Given the description of an element on the screen output the (x, y) to click on. 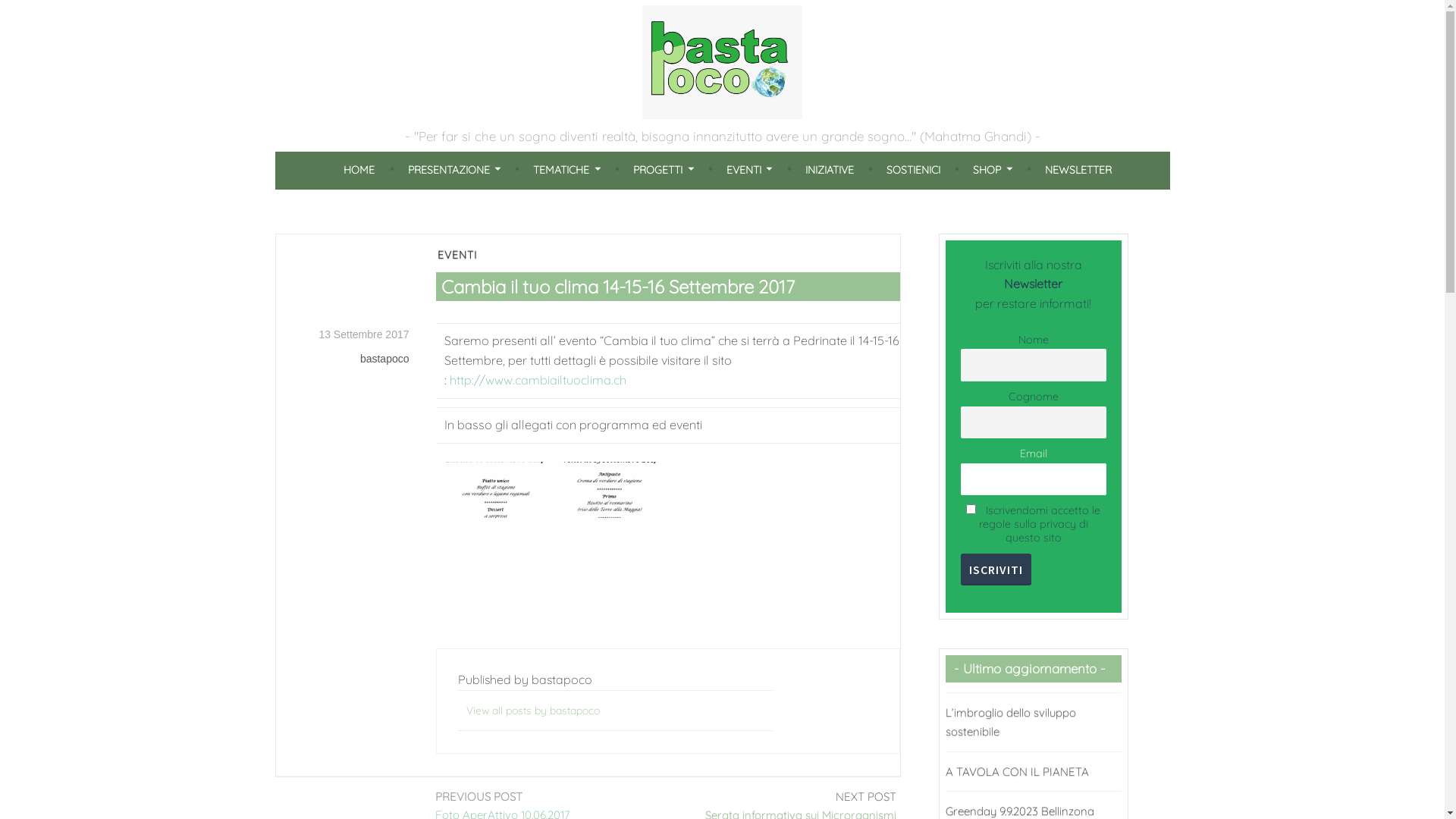
Iscriviti Element type: text (995, 569)
EVENTI Element type: text (456, 254)
HOME Element type: text (358, 169)
SOSTIENICI Element type: text (913, 169)
INIZIATIVE Element type: text (829, 169)
Cerca Element type: text (29, 15)
Associazione Basta Poco Element type: text (449, 143)
http://www.cambiailtuoclima.ch Element type: text (536, 379)
Greenday 9.9.2023 Bellinzona Element type: text (1018, 810)
A TAVOLA CON IL PIANETA Element type: text (1016, 771)
PROGETTI Element type: text (663, 169)
SHOP Element type: text (991, 169)
NEWSLETTER Element type: text (1077, 169)
13 Settembre 2017 Element type: text (363, 335)
PRESENTAZIONE Element type: text (453, 169)
EVENTI Element type: text (748, 169)
View all posts by bastapoco Element type: text (532, 710)
TEMATICHE Element type: text (566, 169)
IMG 20170902 001327 Element type: hover (495, 489)
bastapoco Element type: text (384, 358)
IMG 20170902 001516 Element type: hover (610, 490)
